Given the description of an element on the screen output the (x, y) to click on. 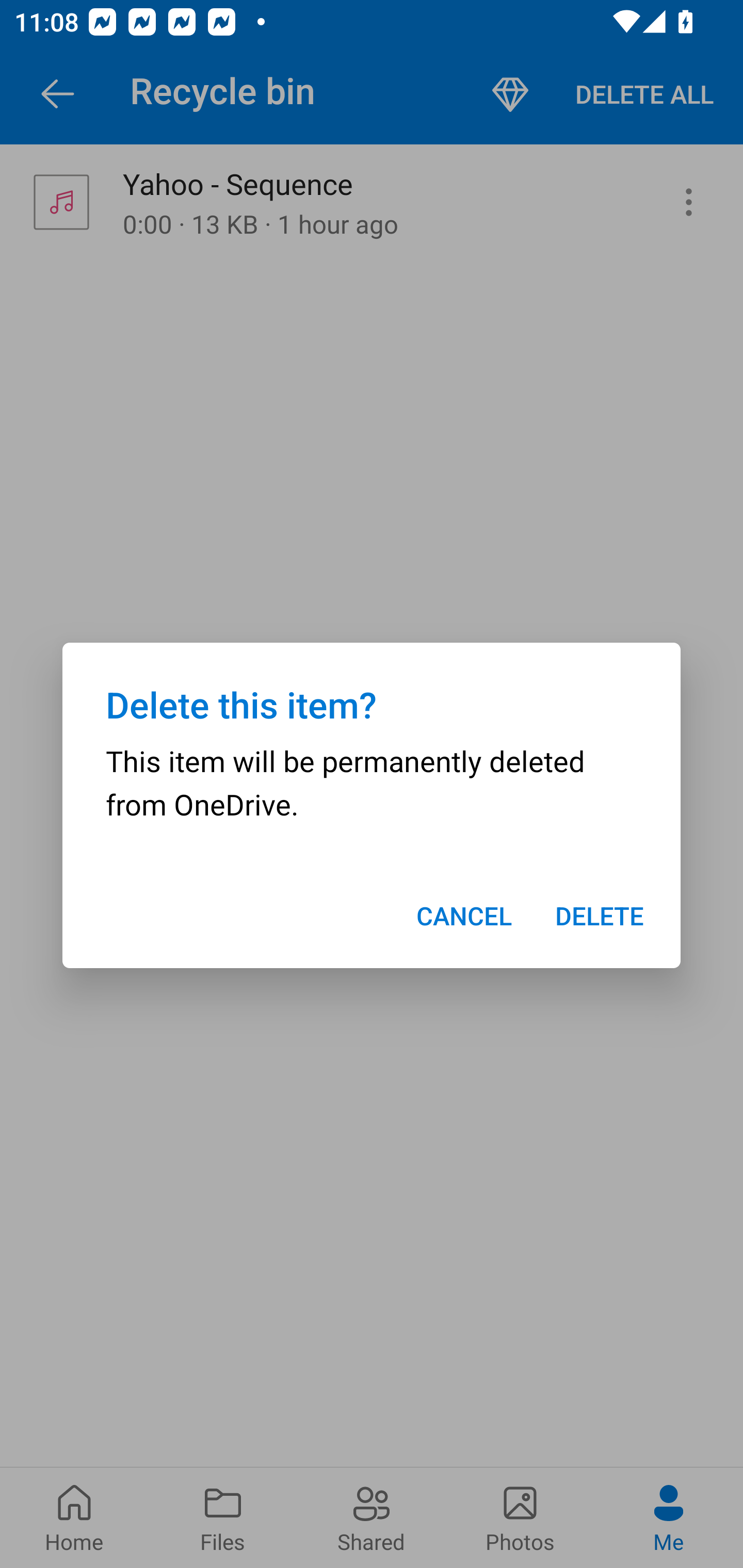
CANCEL (463, 915)
DELETE (599, 915)
